Given the description of an element on the screen output the (x, y) to click on. 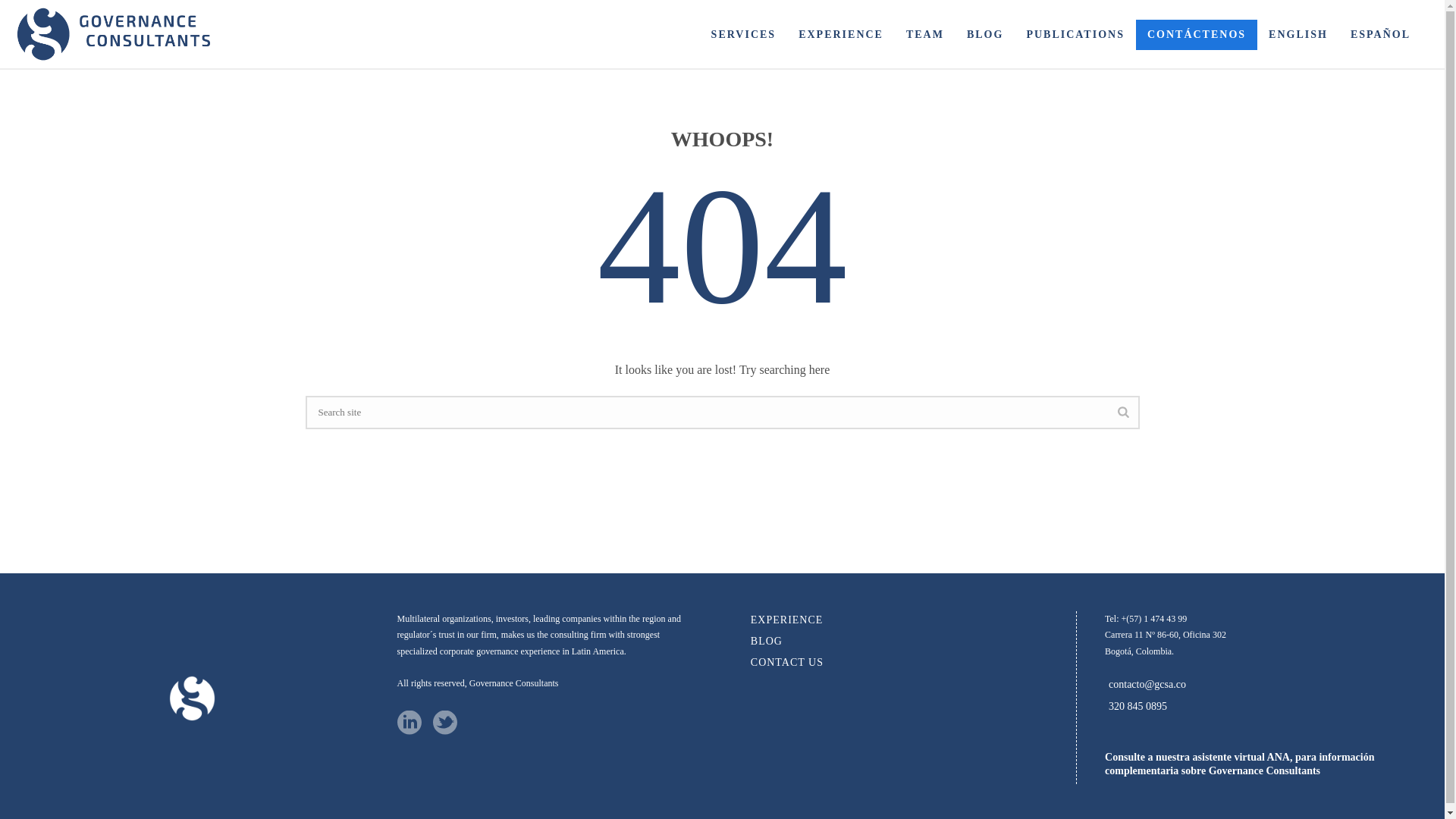
320 845 0895 (1137, 706)
ENGLISH (1298, 34)
TEAM (925, 34)
 twitter (444, 723)
PUBLICATIONS (1074, 34)
TEAM (925, 34)
ENGLISH (1298, 34)
English (1298, 34)
SERVICES (743, 34)
EXPERIENCE (841, 34)
EXPERIENCE (841, 34)
PUBLICATIONS (1074, 34)
BLOG (984, 34)
BLOG (984, 34)
 linkedin (409, 723)
